Given the description of an element on the screen output the (x, y) to click on. 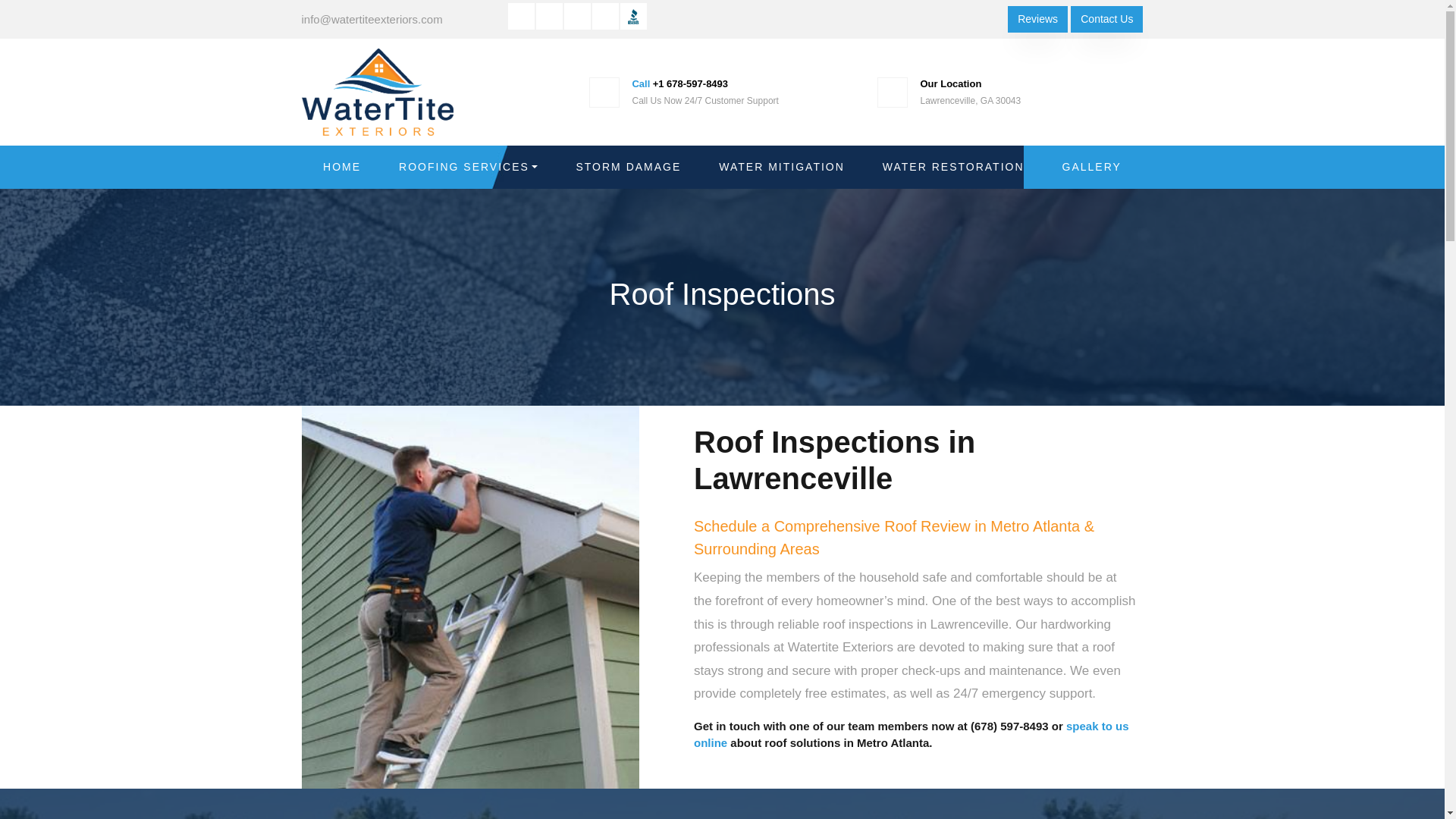
BBB.org (633, 16)
GALLERY (1091, 167)
Contact Us (1106, 18)
WATER MITIGATION (781, 167)
Pinterest (548, 16)
HOME (342, 167)
Reviews (1037, 18)
WATER RESTORATION (953, 167)
Google (521, 16)
ROOFING SERVICES (468, 167)
Yelp (605, 16)
STORM DAMAGE (628, 167)
speak to us online (909, 734)
Facebook (577, 16)
